Given the description of an element on the screen output the (x, y) to click on. 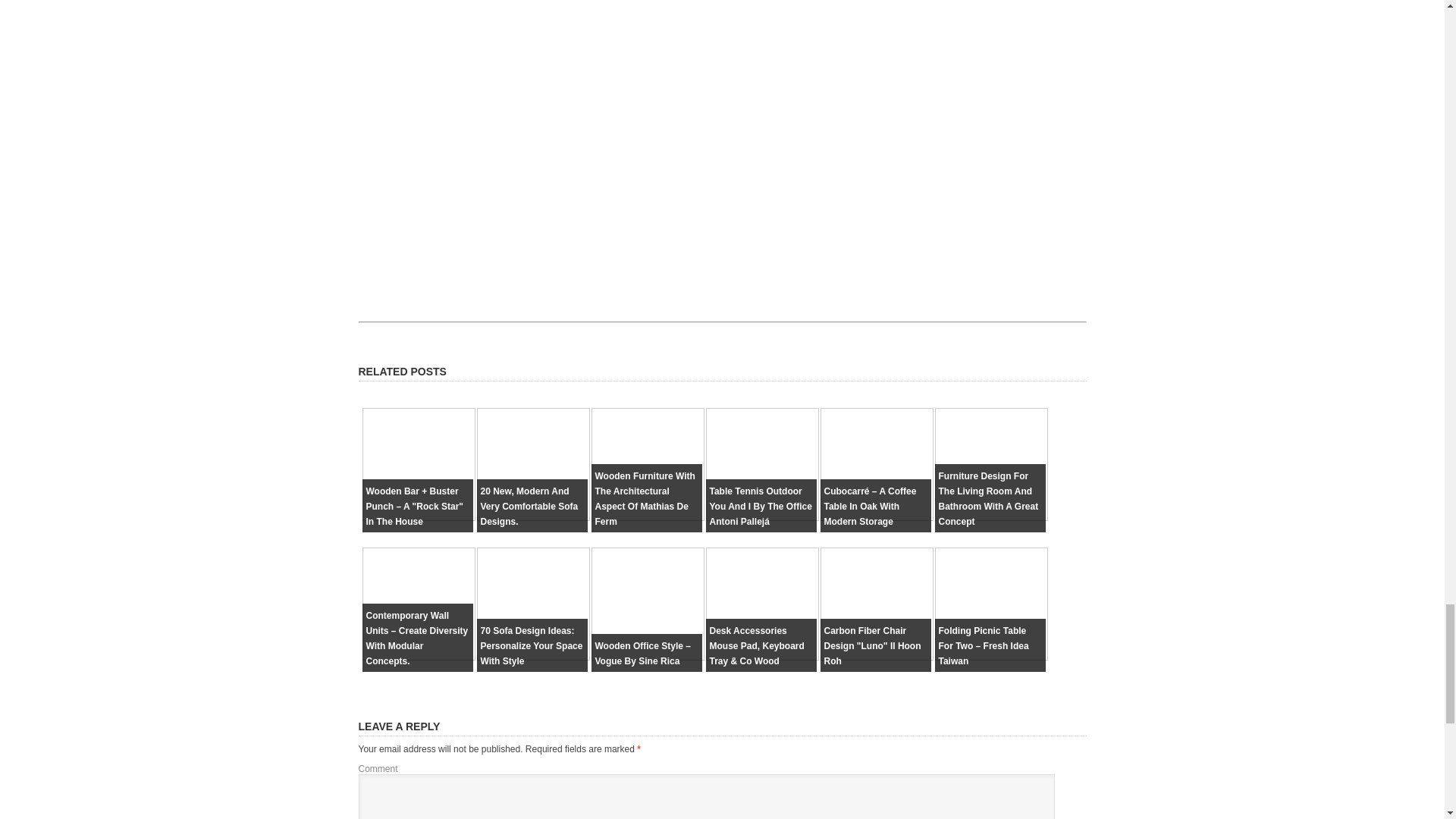
20 New, Modern And Very Comfortable Sofa Designs. (529, 506)
